Given the description of an element on the screen output the (x, y) to click on. 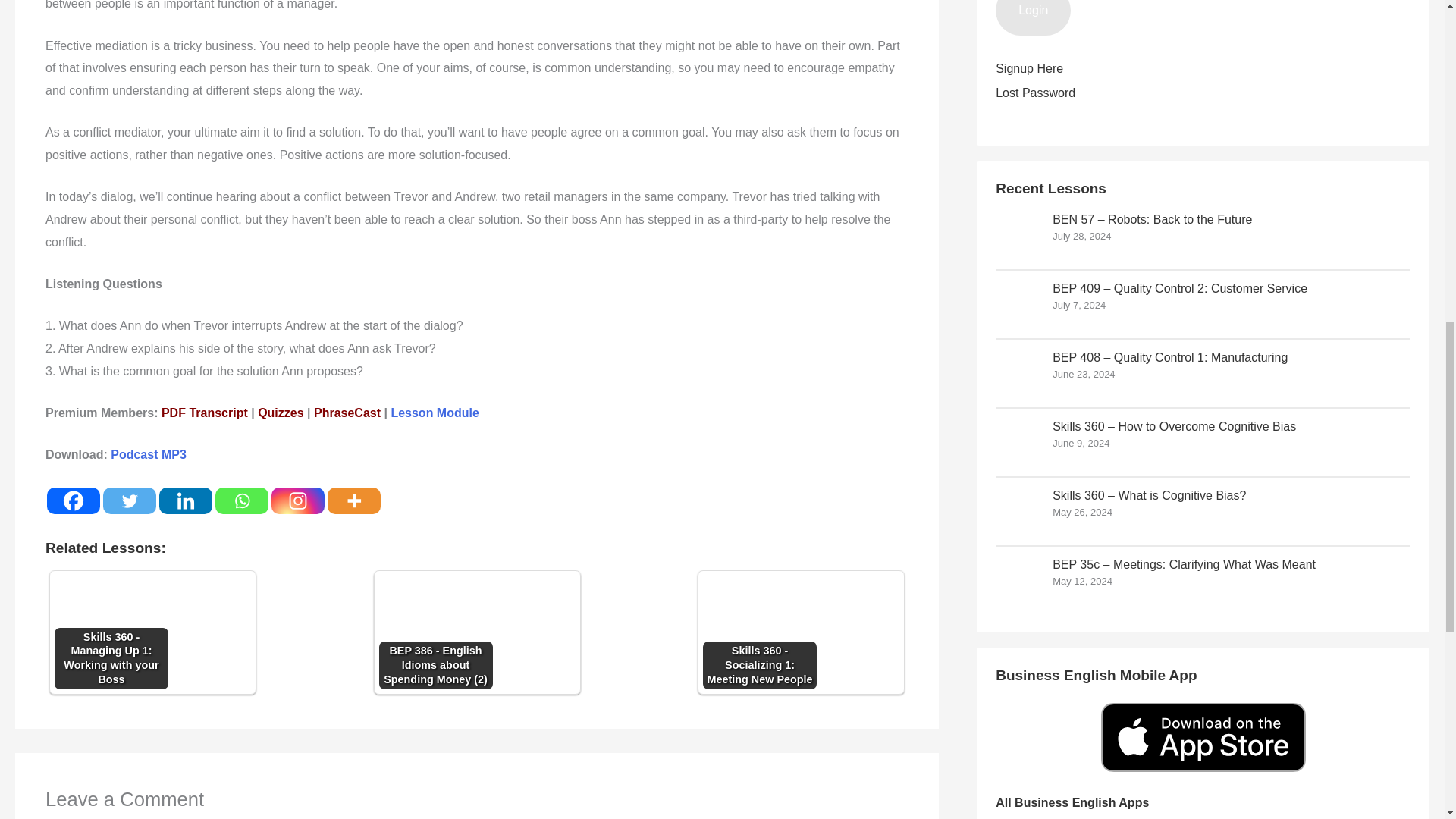
Twitter (129, 500)
Facebook (73, 500)
Login (1032, 18)
